Given the description of an element on the screen output the (x, y) to click on. 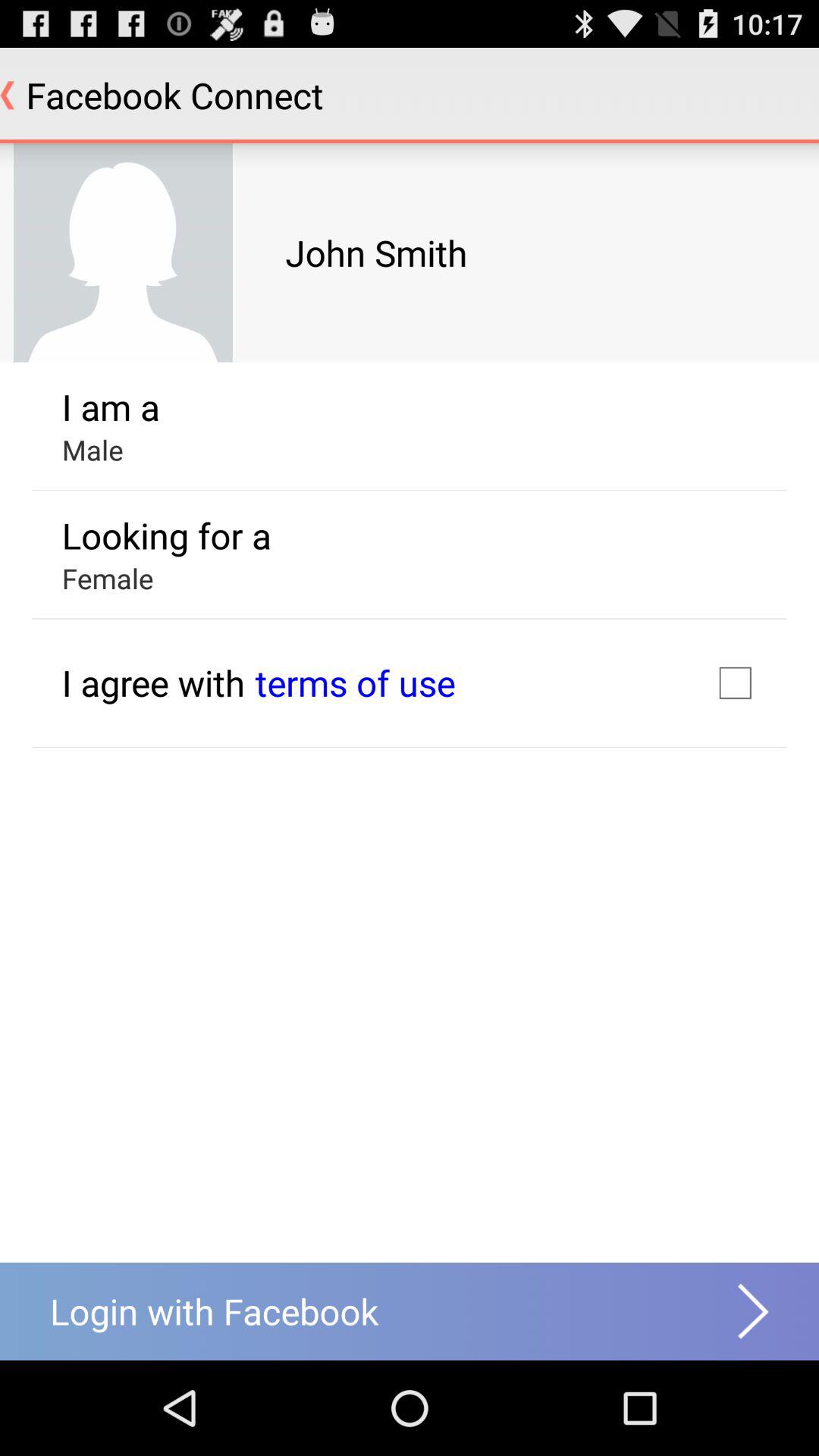
launch the icon above login with facebook icon (153, 682)
